Given the description of an element on the screen output the (x, y) to click on. 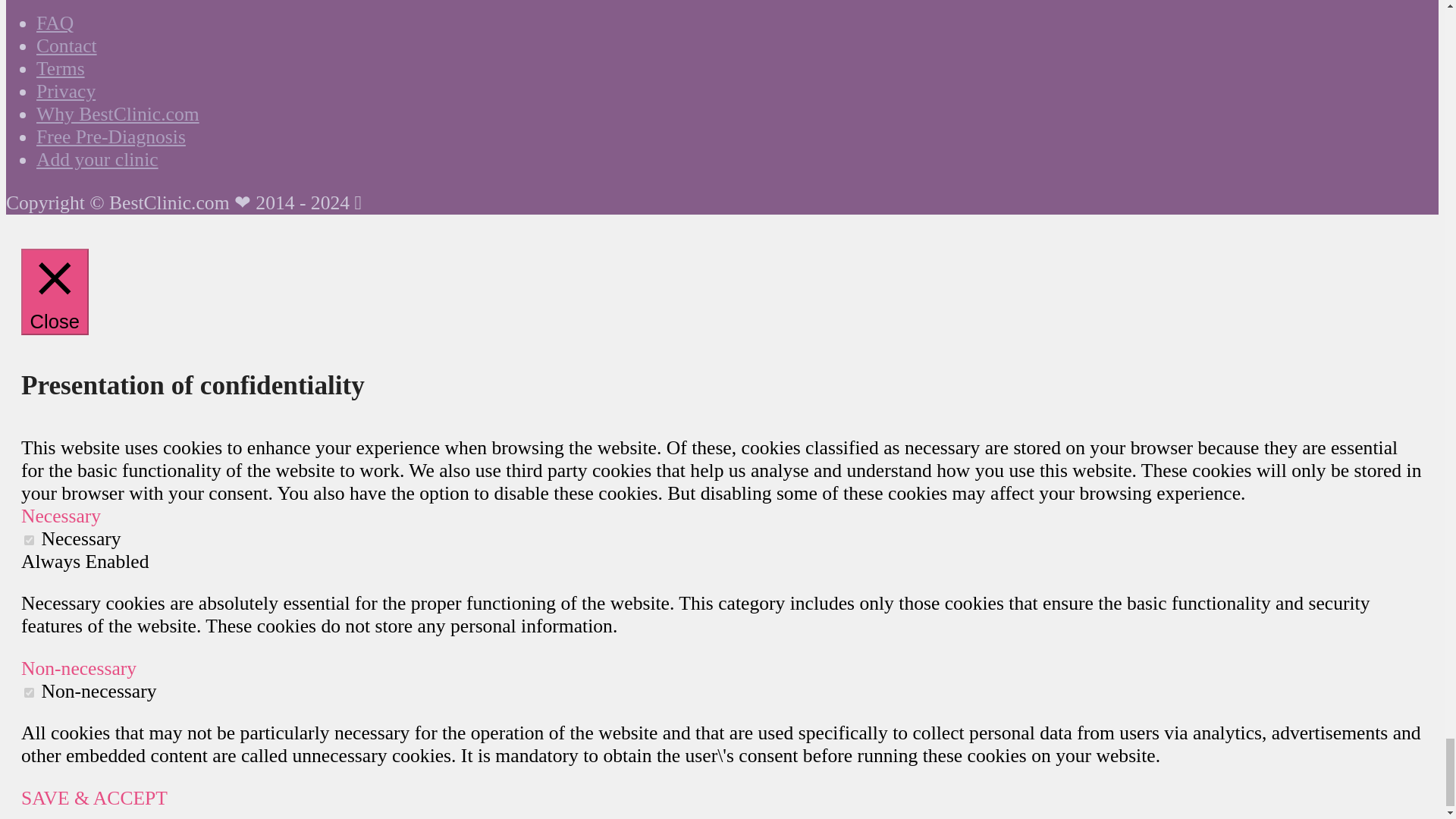
on (28, 540)
on (28, 692)
